Given the description of an element on the screen output the (x, y) to click on. 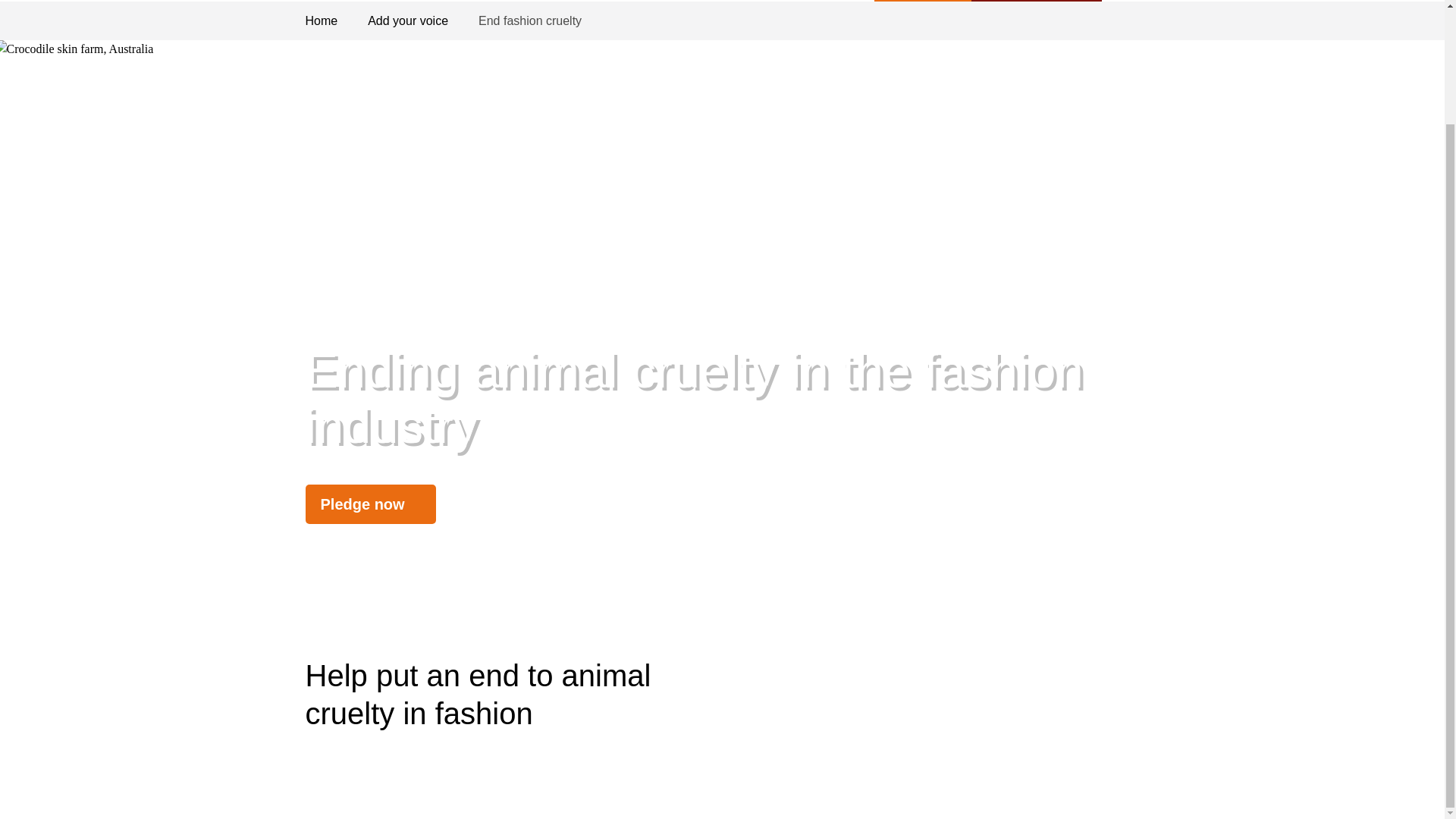
Donate (923, 0)
Take Action (1036, 0)
Pledge now (369, 504)
Donate once (923, 0)
Take Action (1036, 0)
